Given the description of an element on the screen output the (x, y) to click on. 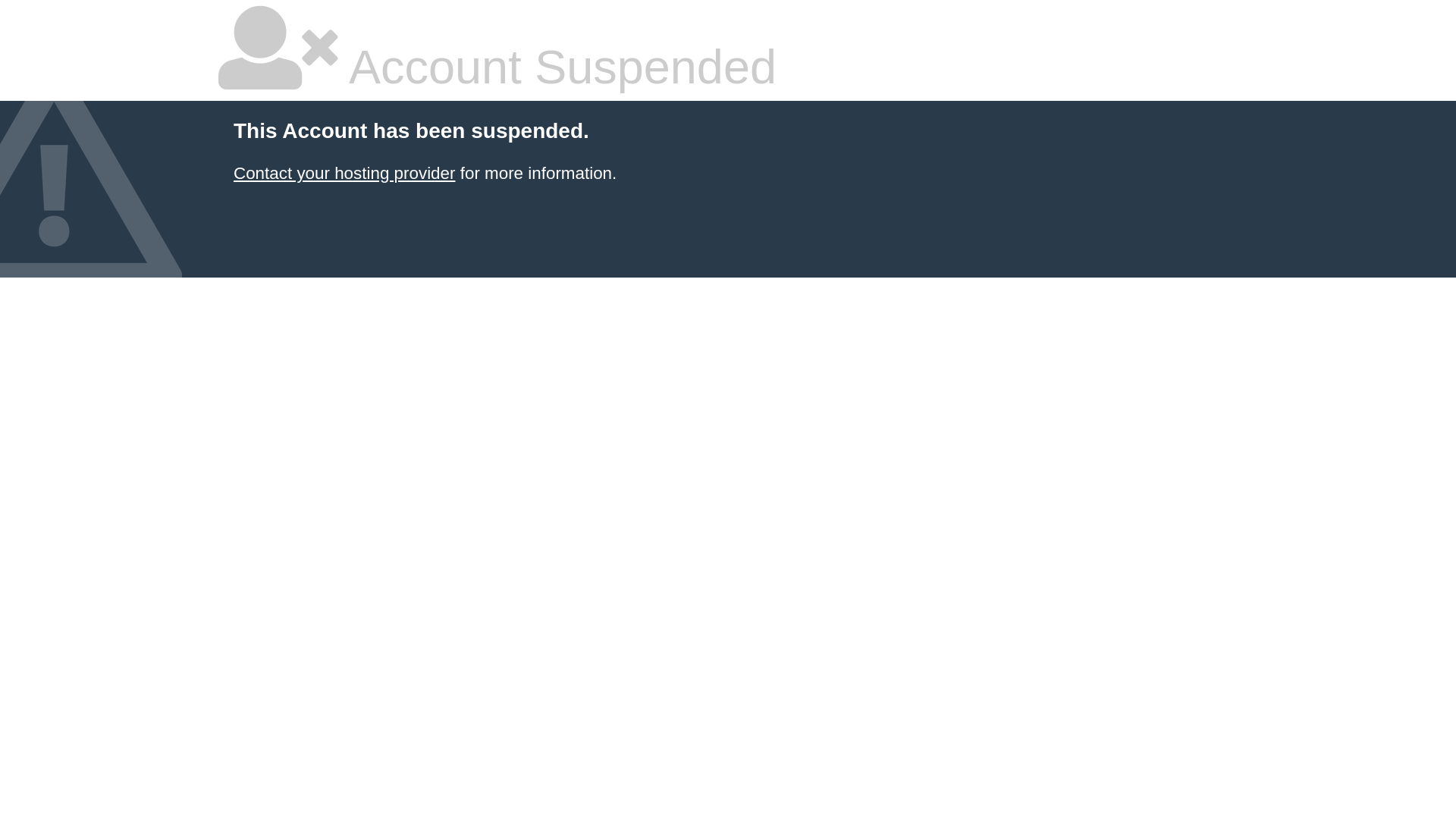
Contact your hosting provider Element type: text (344, 172)
